Given the description of an element on the screen output the (x, y) to click on. 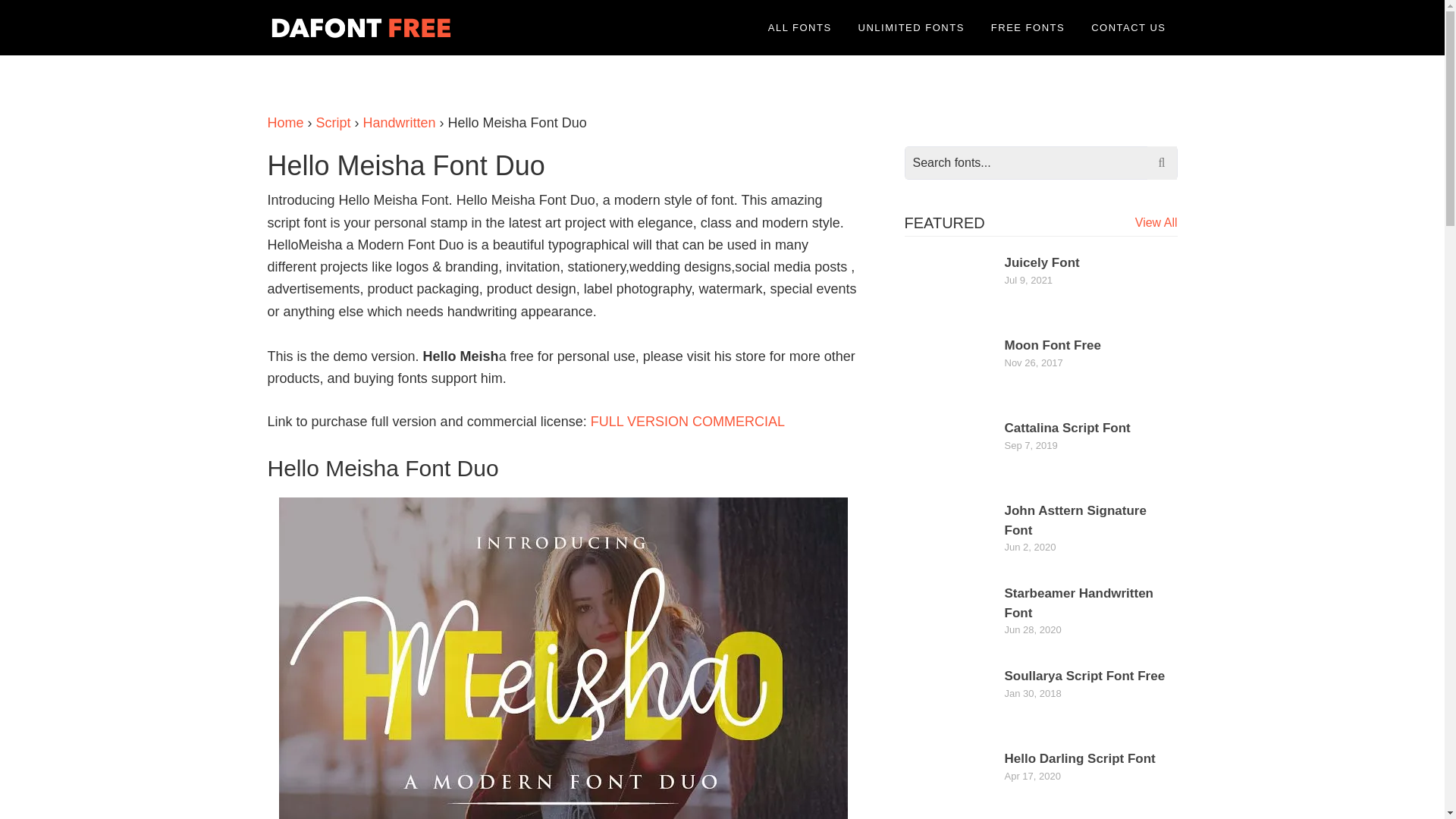
UNLIMITED FONTS (911, 27)
Home (284, 122)
Script (332, 122)
ALL FONTS (800, 27)
CONTACT US (1128, 27)
Handwritten (398, 122)
FREE FONTS (1027, 27)
FULL VERSION COMMERCIAL (687, 421)
